Given the description of an element on the screen output the (x, y) to click on. 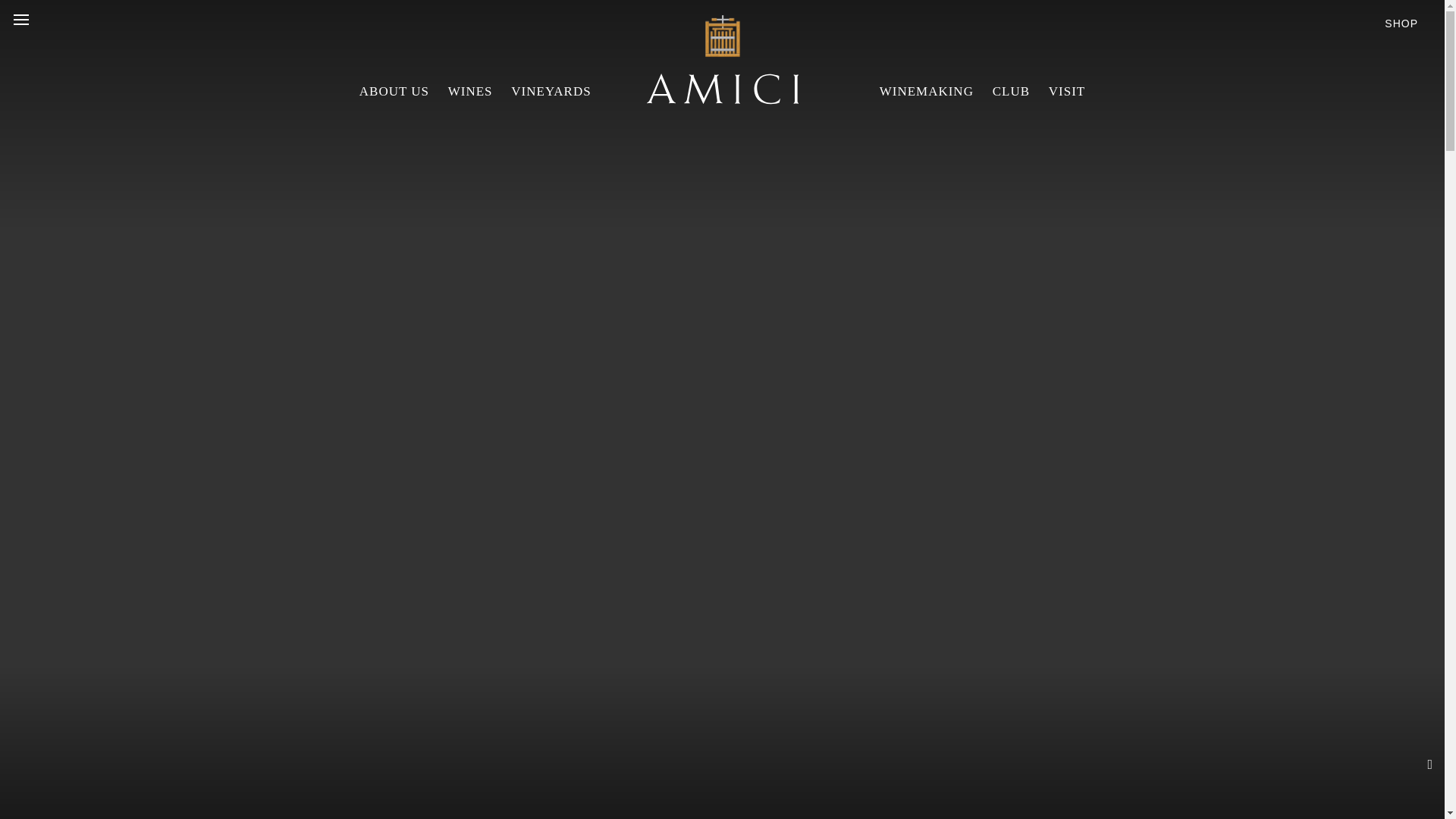
ABOUT US (394, 90)
VINEYARDS (550, 90)
WINEMAKING (926, 90)
VISIT (1067, 90)
WINES (470, 90)
CLUB (1010, 90)
